Given the description of an element on the screen output the (x, y) to click on. 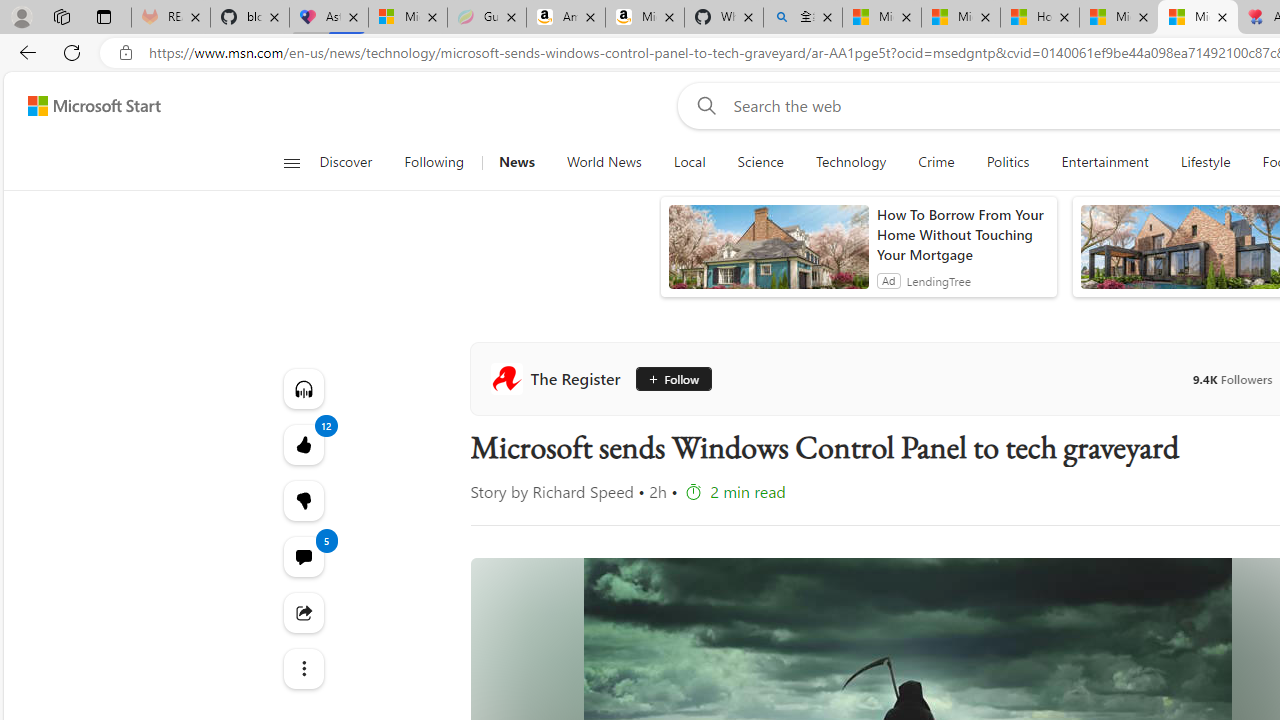
12 Like (302, 444)
Politics (1007, 162)
View comments 5 Comment (302, 556)
Open navigation menu (291, 162)
How I Got Rid of Microsoft Edge's Unnecessary Features (1040, 17)
anim-content (768, 255)
Follow (671, 378)
The Register (559, 378)
Crime (936, 162)
